Given the description of an element on the screen output the (x, y) to click on. 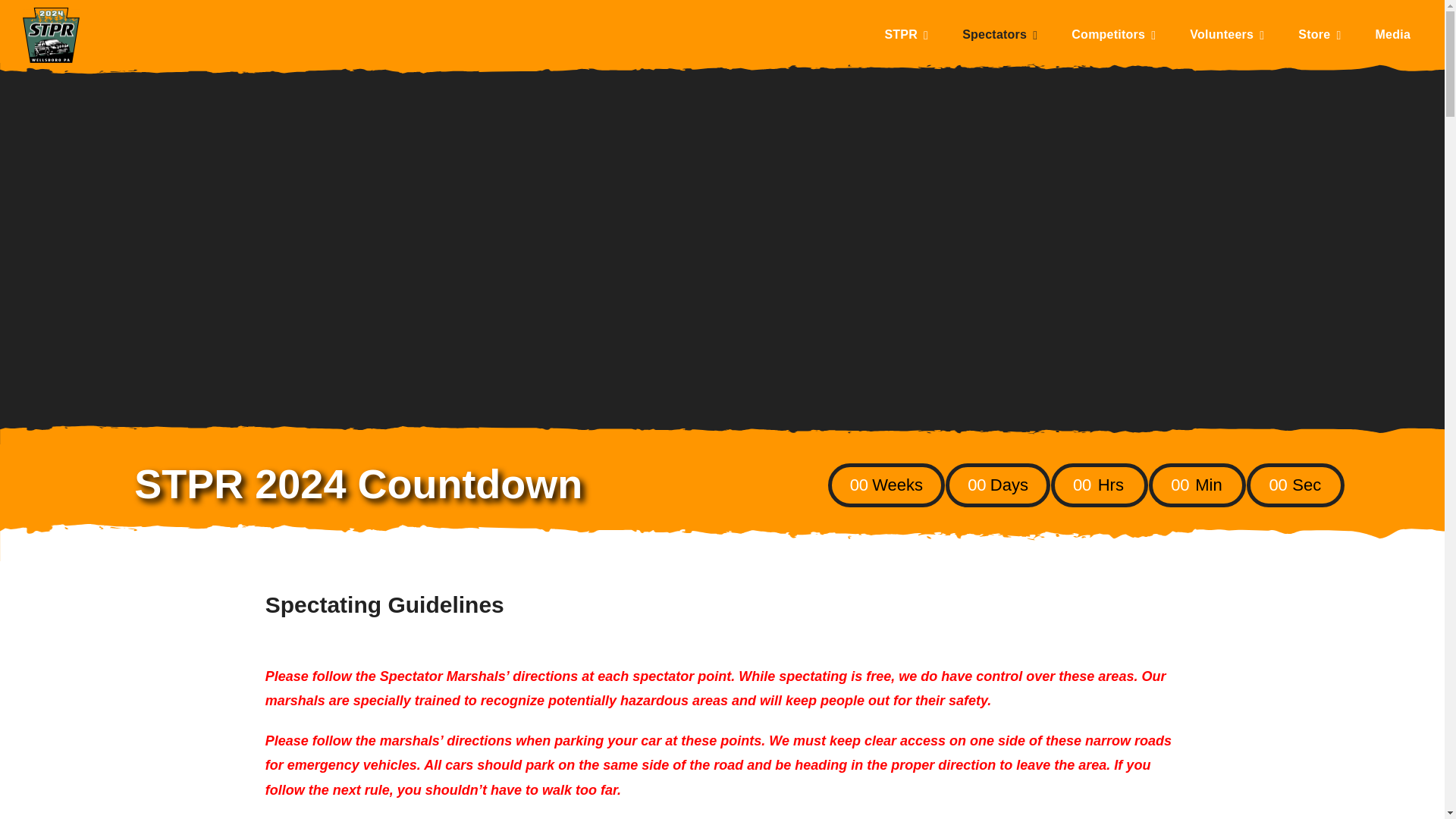
Store (1319, 35)
Spectators (999, 35)
Media (1392, 35)
STPR (905, 35)
Volunteers (1226, 35)
Competitors (1113, 35)
